Given the description of an element on the screen output the (x, y) to click on. 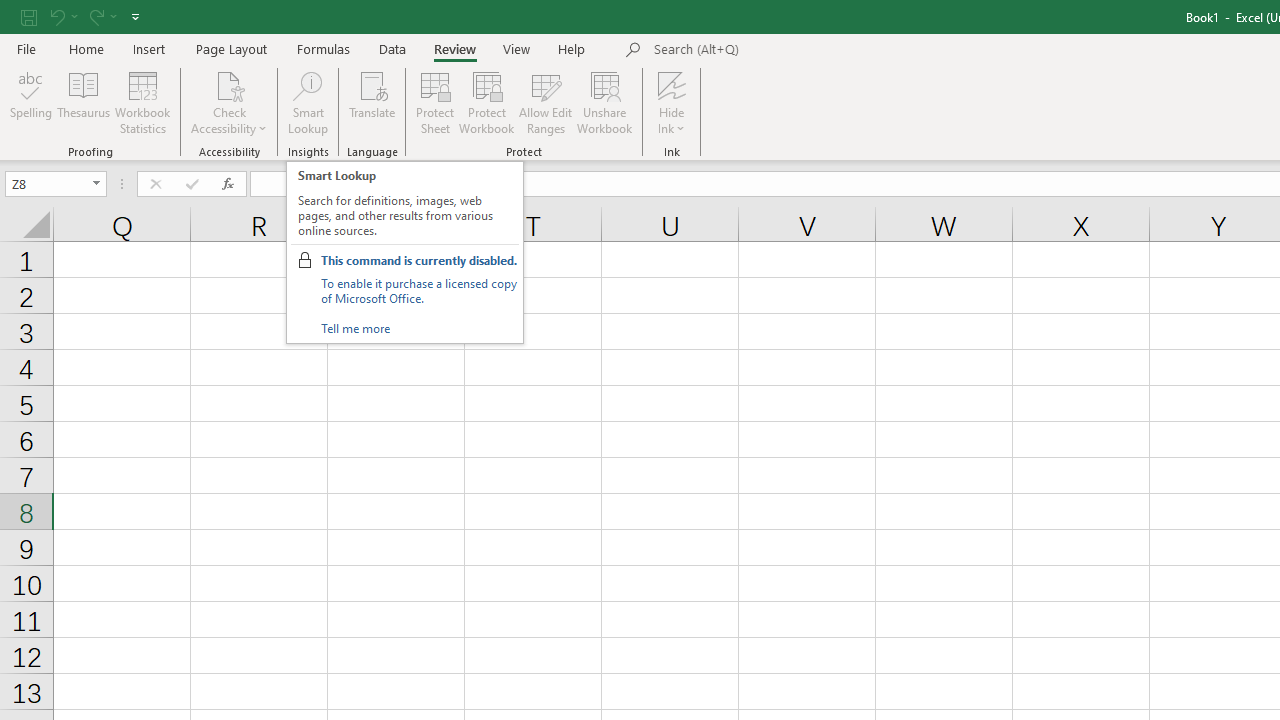
Allow Edit Ranges (545, 102)
Protect Workbook... (486, 102)
Hide Ink (671, 84)
Hide Ink (671, 102)
Smart Lookup (308, 102)
